Given the description of an element on the screen output the (x, y) to click on. 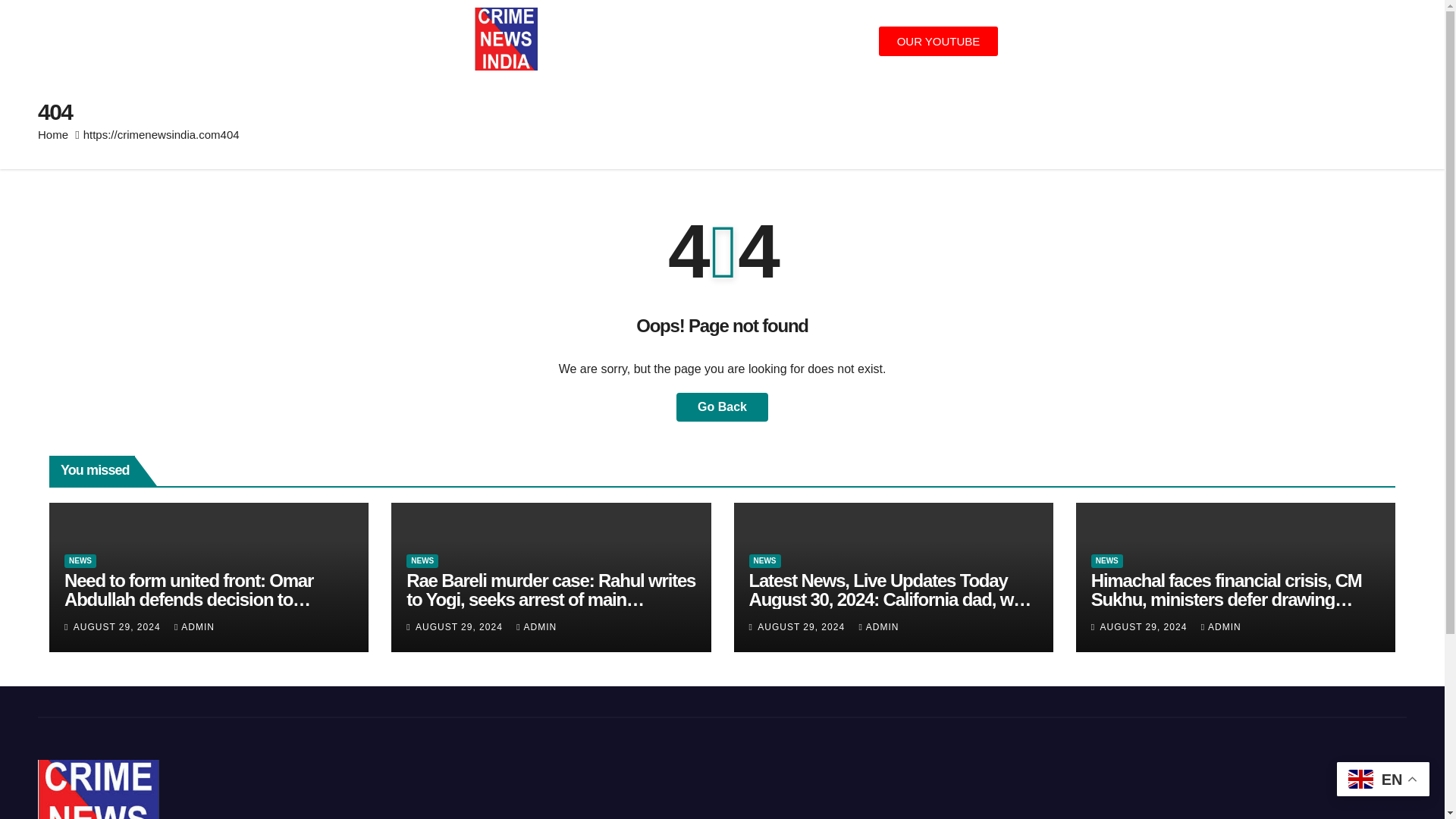
ADMIN (194, 626)
AUGUST 29, 2024 (802, 626)
AUGUST 29, 2024 (118, 626)
NEWS (80, 561)
NEWS (1106, 561)
NEWS (764, 561)
AUGUST 29, 2024 (459, 626)
ADMIN (1221, 626)
NEWS (422, 561)
